Given the description of an element on the screen output the (x, y) to click on. 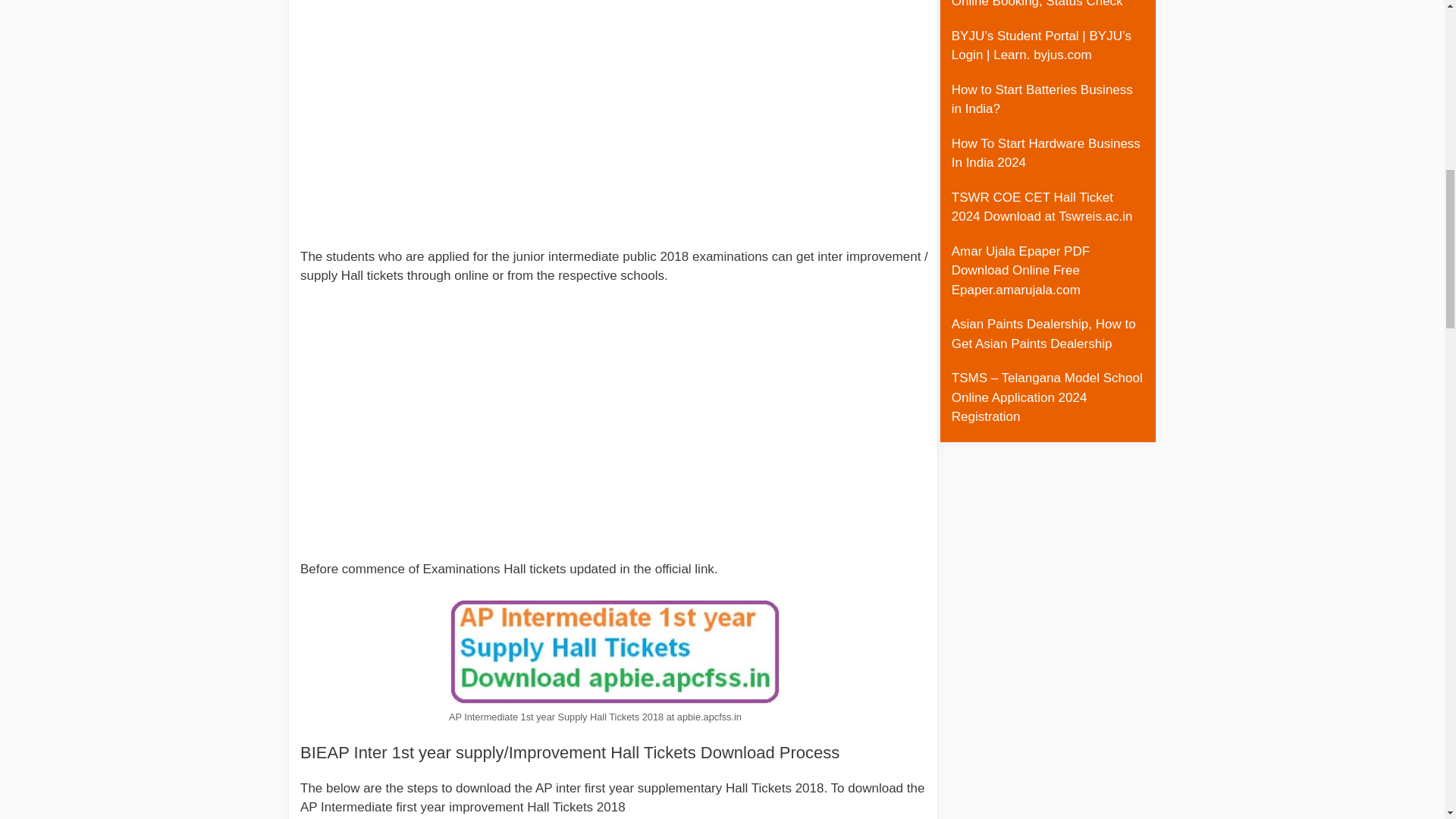
How to Start Batteries Business in India? (1042, 98)
How To Start Hardware Business In India 2024 (1046, 153)
Asian Paints Dealership, How to Get Asian Paints Dealership (1043, 333)
Bharat Gas Booking Number and Online Booking, Status Check (1046, 4)
TSWR COE CET Hall Ticket 2024 Download at Tswreis.ac.in (1042, 206)
